Given the description of an element on the screen output the (x, y) to click on. 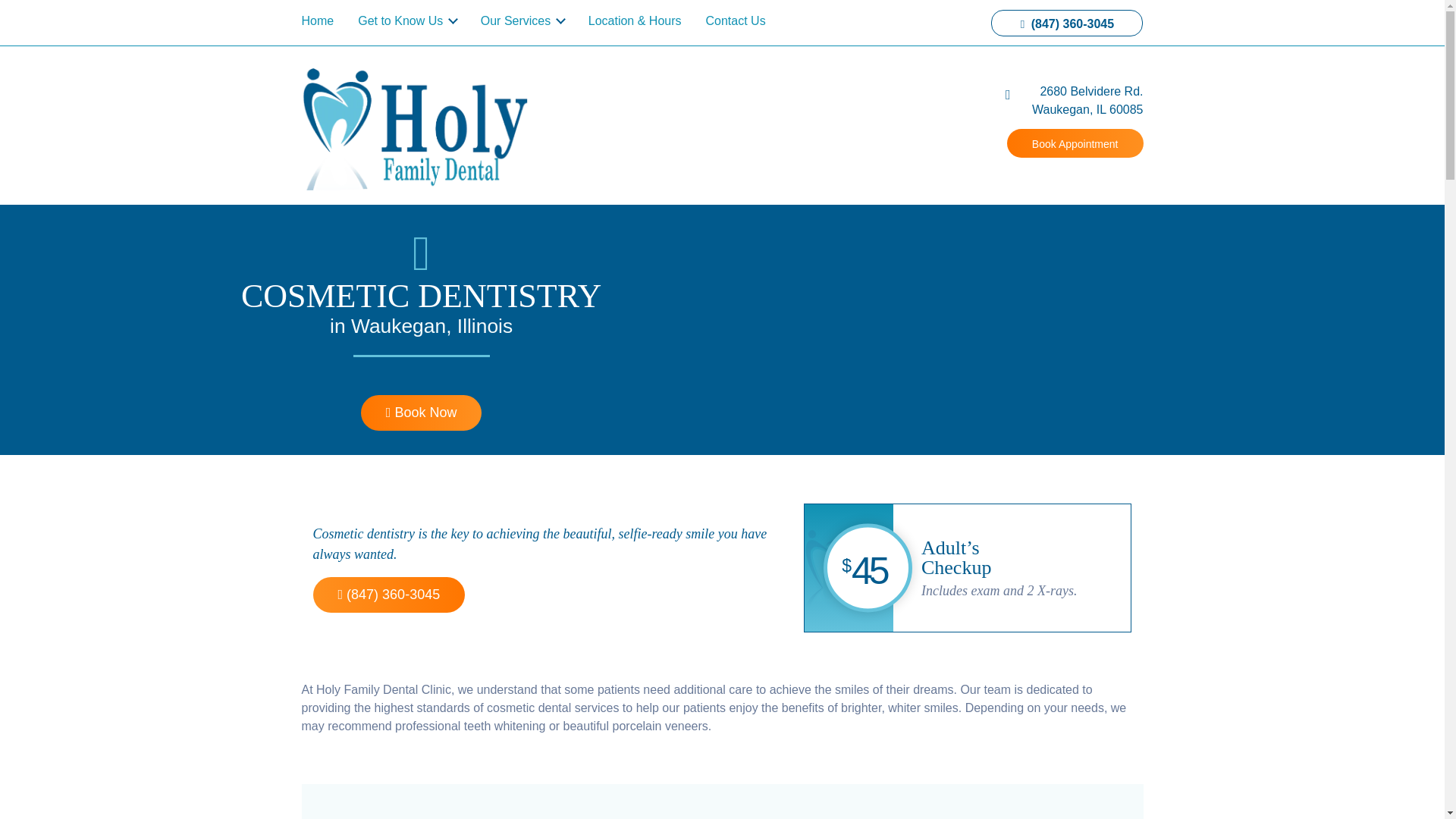
Book Appointment (406, 10)
Click to like Holy Family Dental Clinic Facebook Page (1074, 143)
Book Now (815, 22)
Get to Know Us (421, 412)
Book Appointment (407, 20)
Contact Us (1074, 16)
Home (735, 20)
Our Services (323, 20)
